Given the description of an element on the screen output the (x, y) to click on. 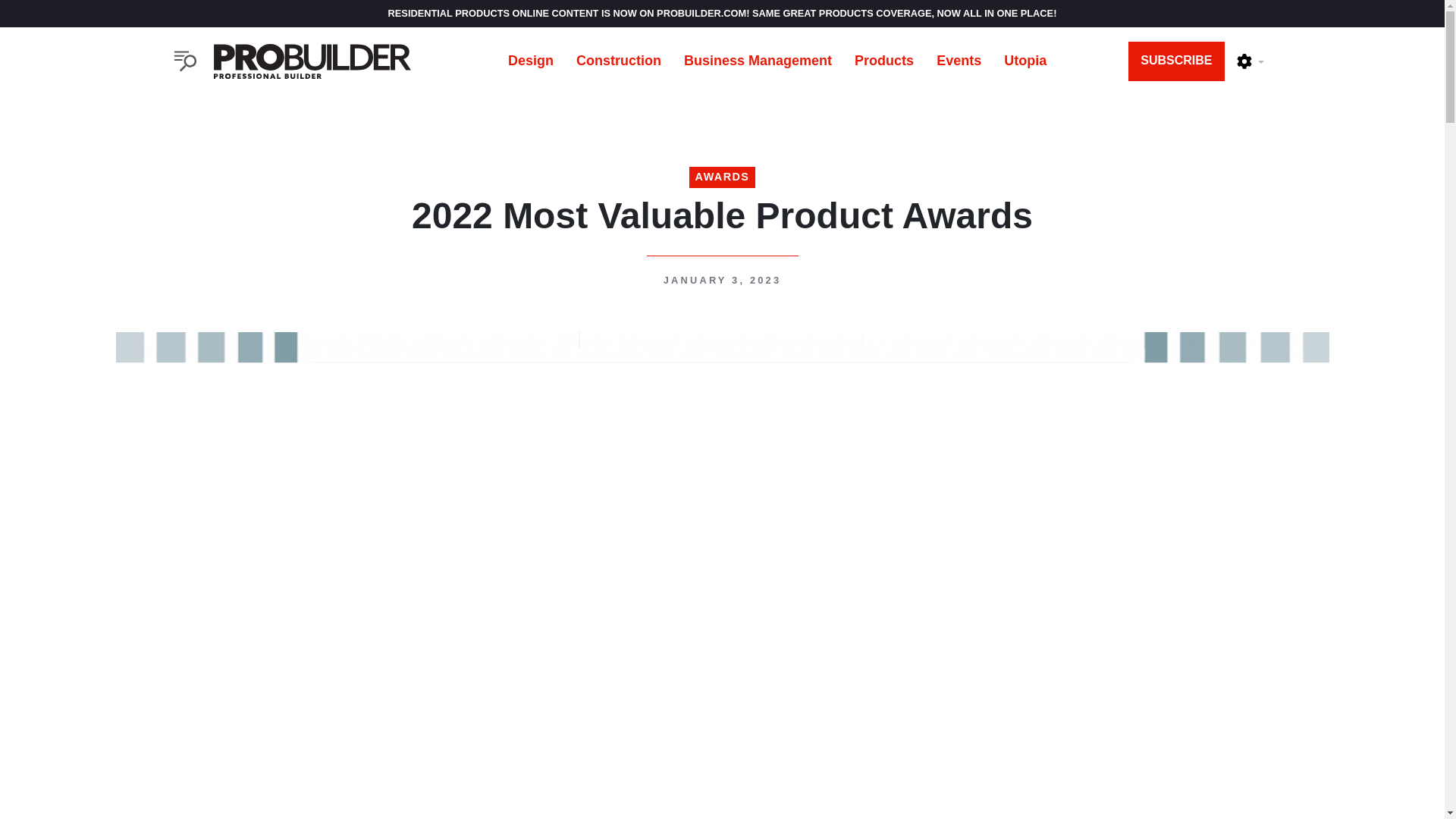
Utopia (1025, 60)
Business Management (757, 60)
Design (530, 60)
SUBSCRIBE (1176, 61)
Construction (618, 60)
Events (958, 60)
AWARDS (721, 177)
Tuesday, January 3, 2023 - 12:06 (721, 279)
Products (883, 60)
